Given the description of an element on the screen output the (x, y) to click on. 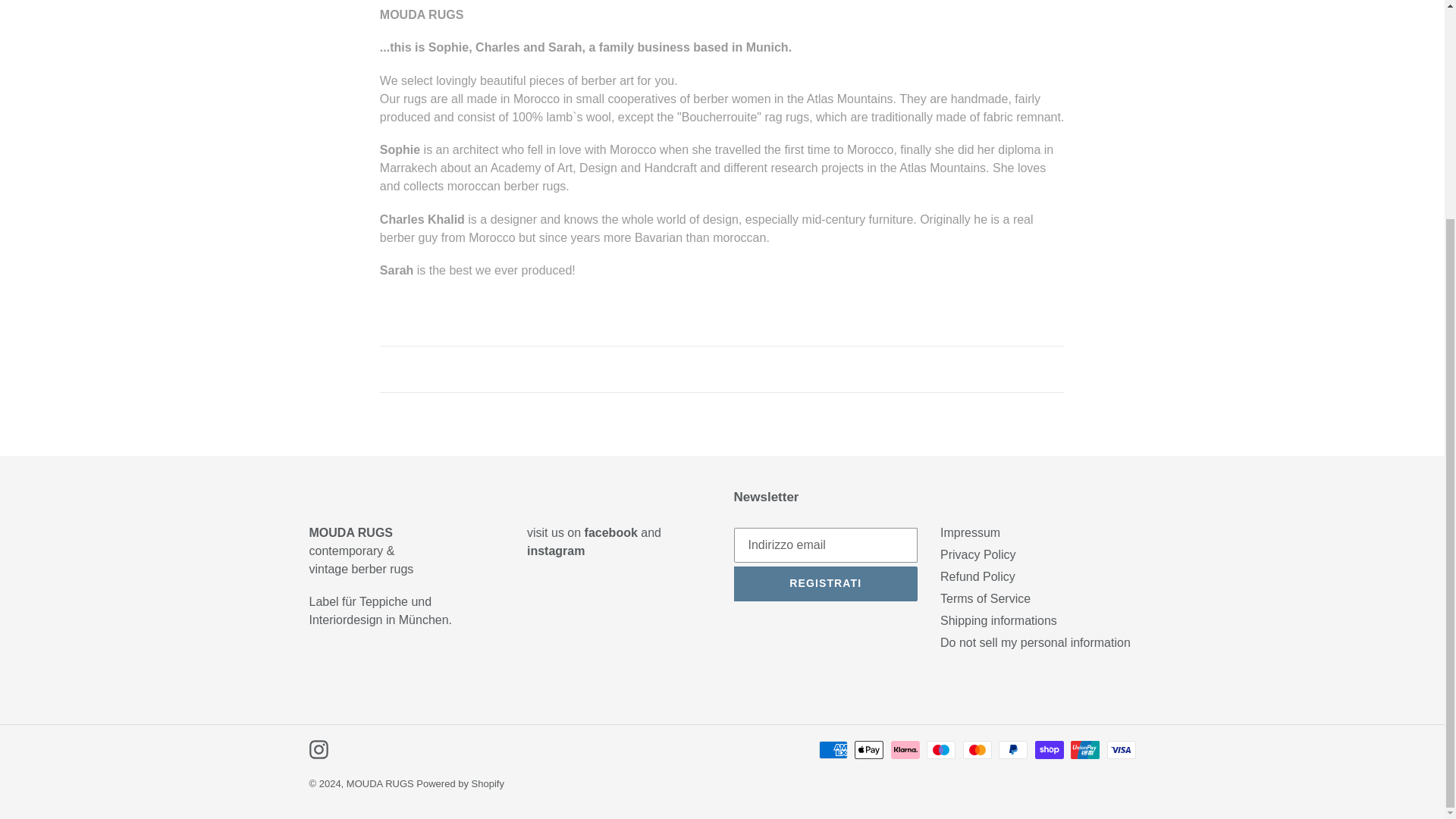
Terms of Service (985, 598)
facebook (608, 532)
Instagram (318, 749)
MOUDA RUGS (381, 783)
Do not sell my personal information (1035, 642)
Privacy Policy (978, 554)
instagram (556, 550)
Refund Policy (977, 576)
Shipping informations (998, 620)
REGISTRATI (825, 583)
Impressum (970, 532)
